Given the description of an element on the screen output the (x, y) to click on. 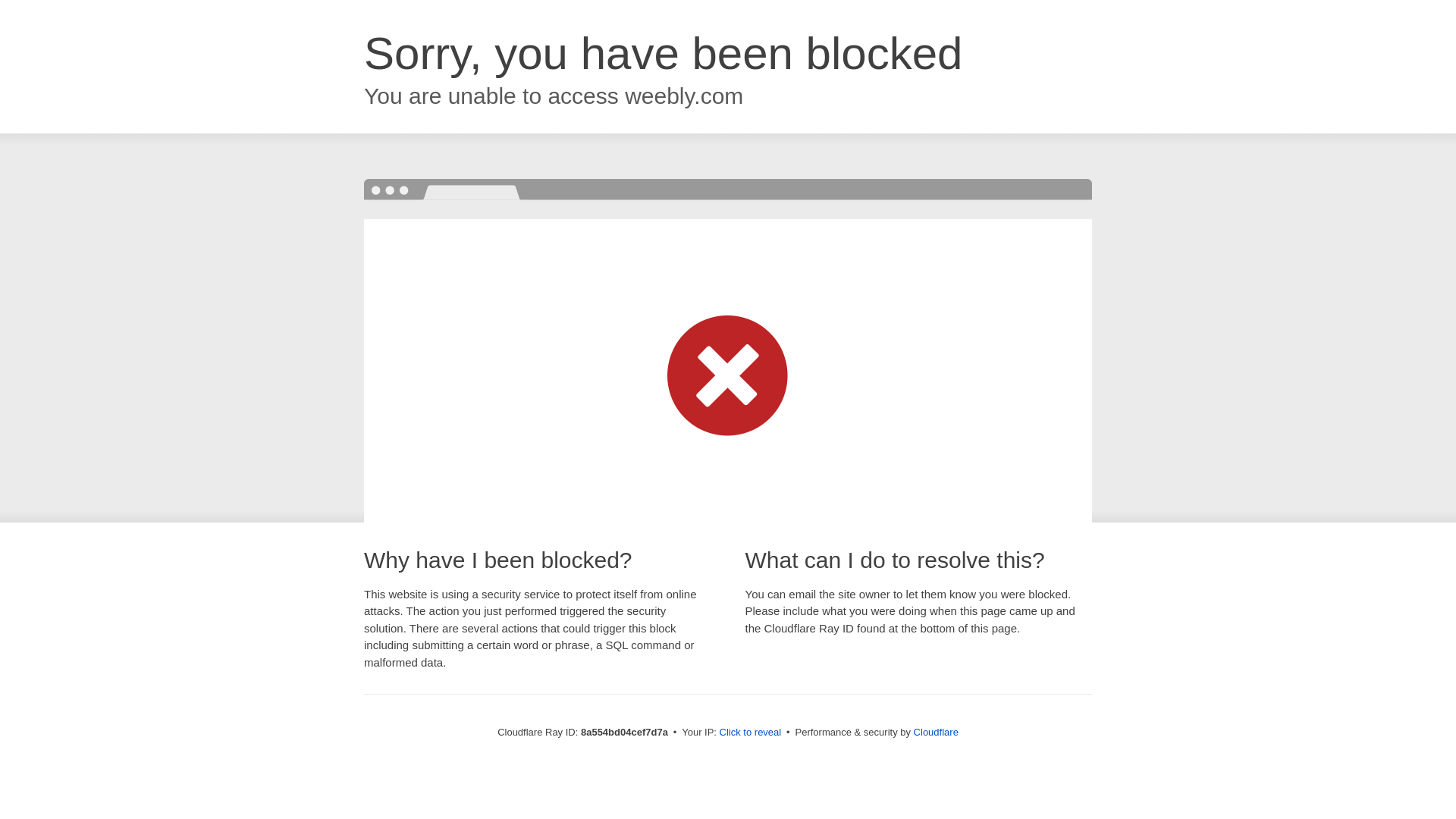
Click to reveal (750, 732)
Cloudflare (936, 731)
